Given the description of an element on the screen output the (x, y) to click on. 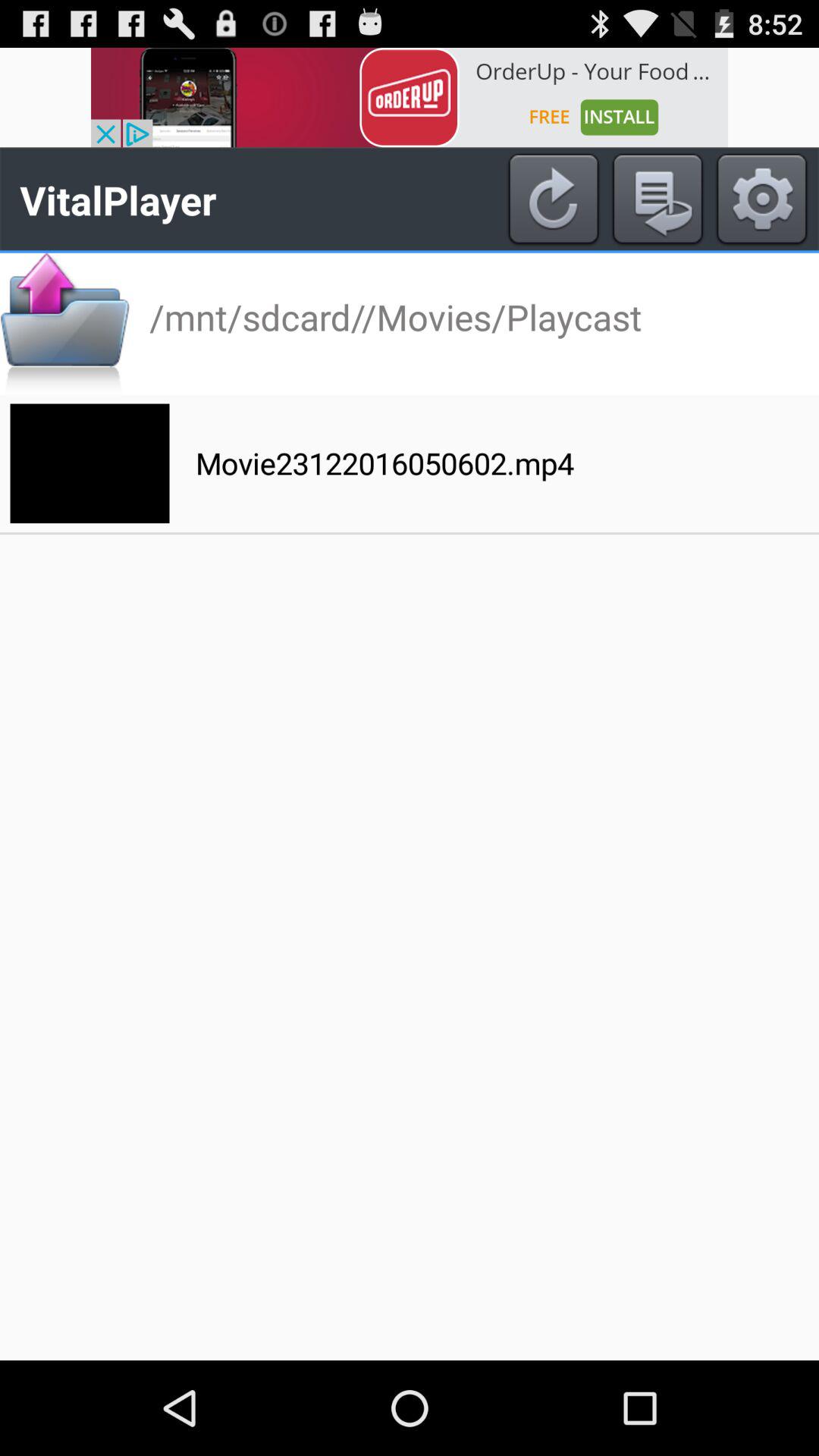
click on advertisement (409, 97)
